Given the description of an element on the screen output the (x, y) to click on. 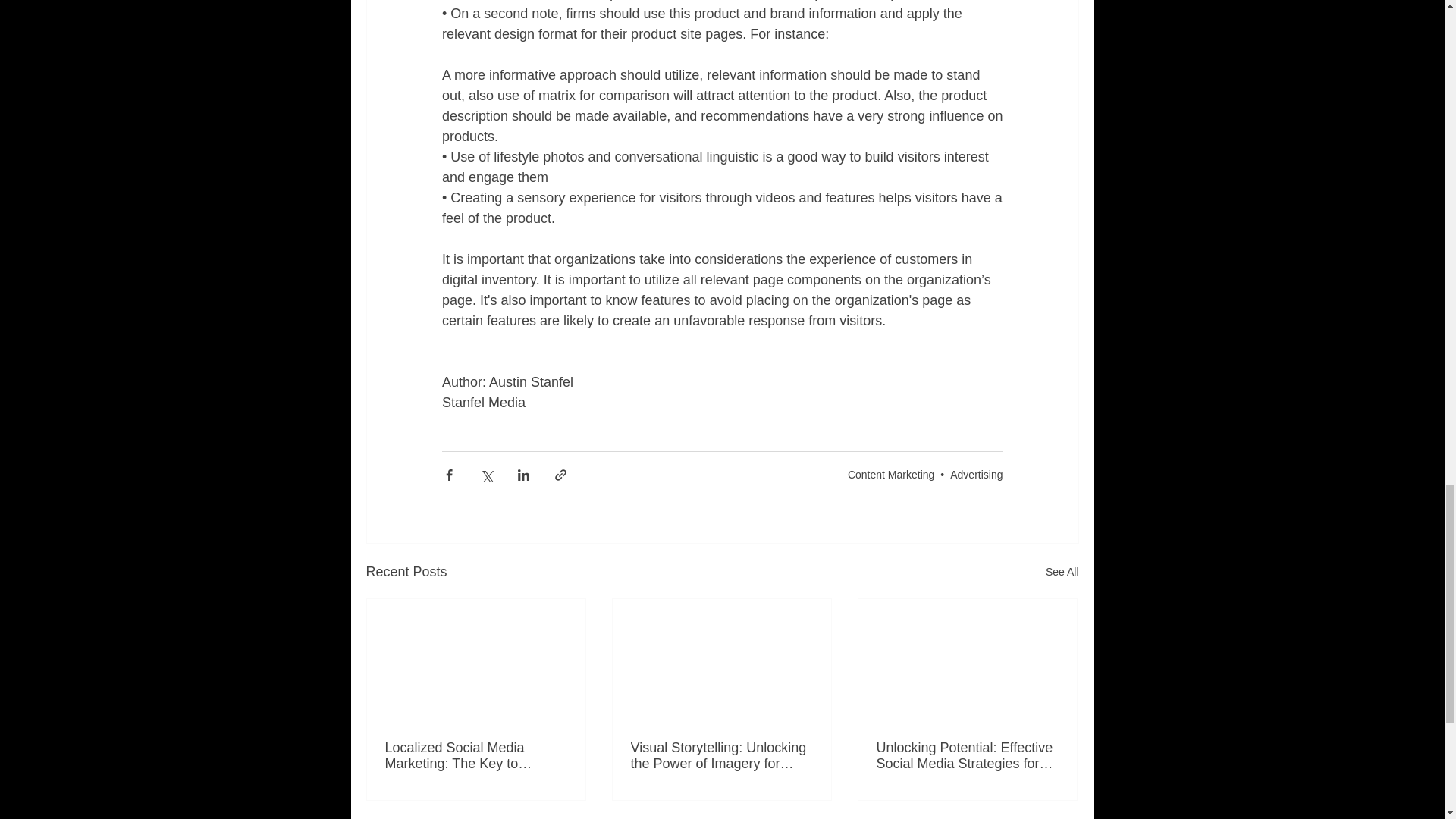
Advertising (976, 474)
See All (1061, 572)
Content Marketing (890, 474)
